Given the description of an element on the screen output the (x, y) to click on. 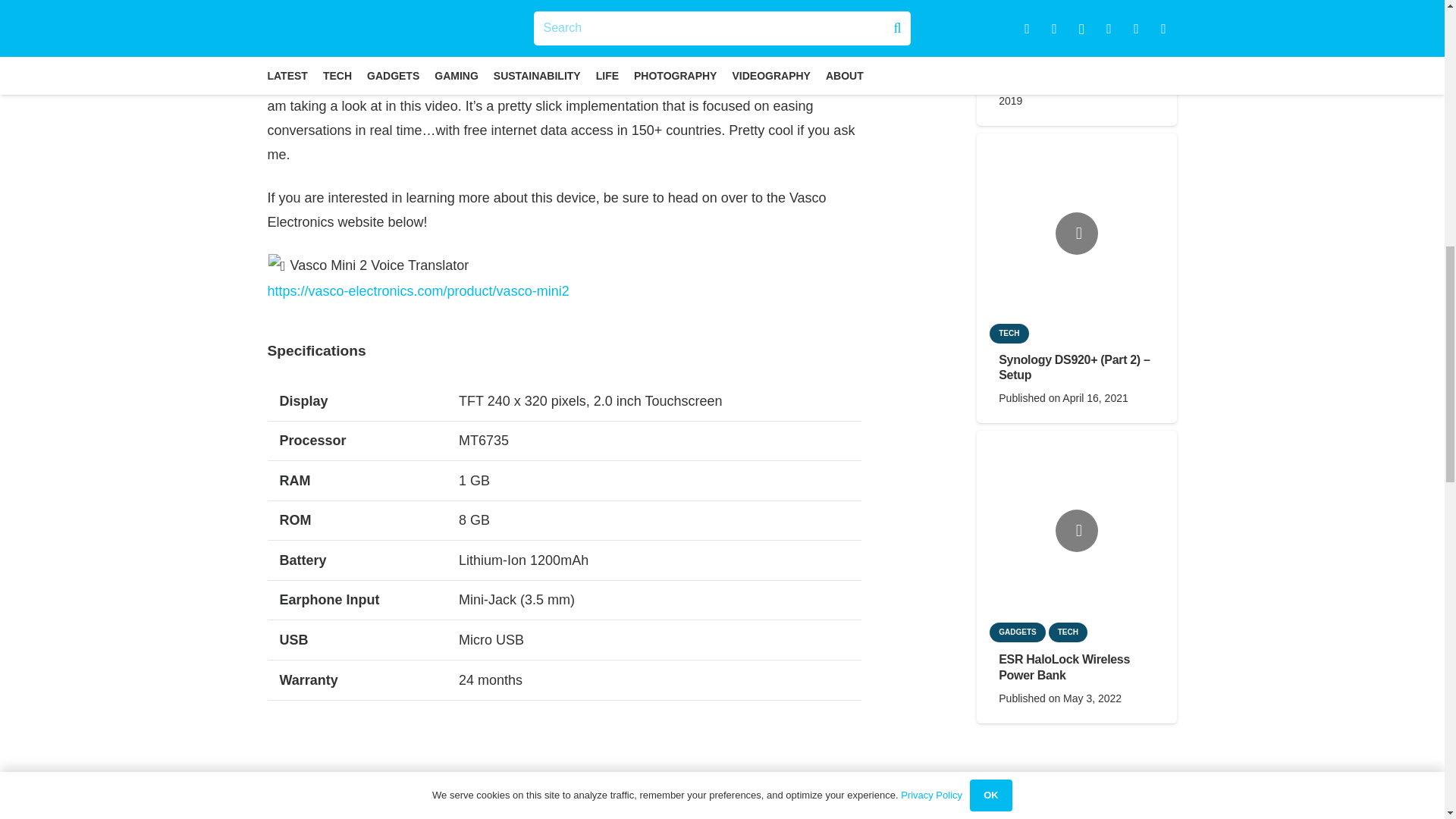
web1 (365, 769)
web2 (564, 769)
web3 (762, 769)
